Given the description of an element on the screen output the (x, y) to click on. 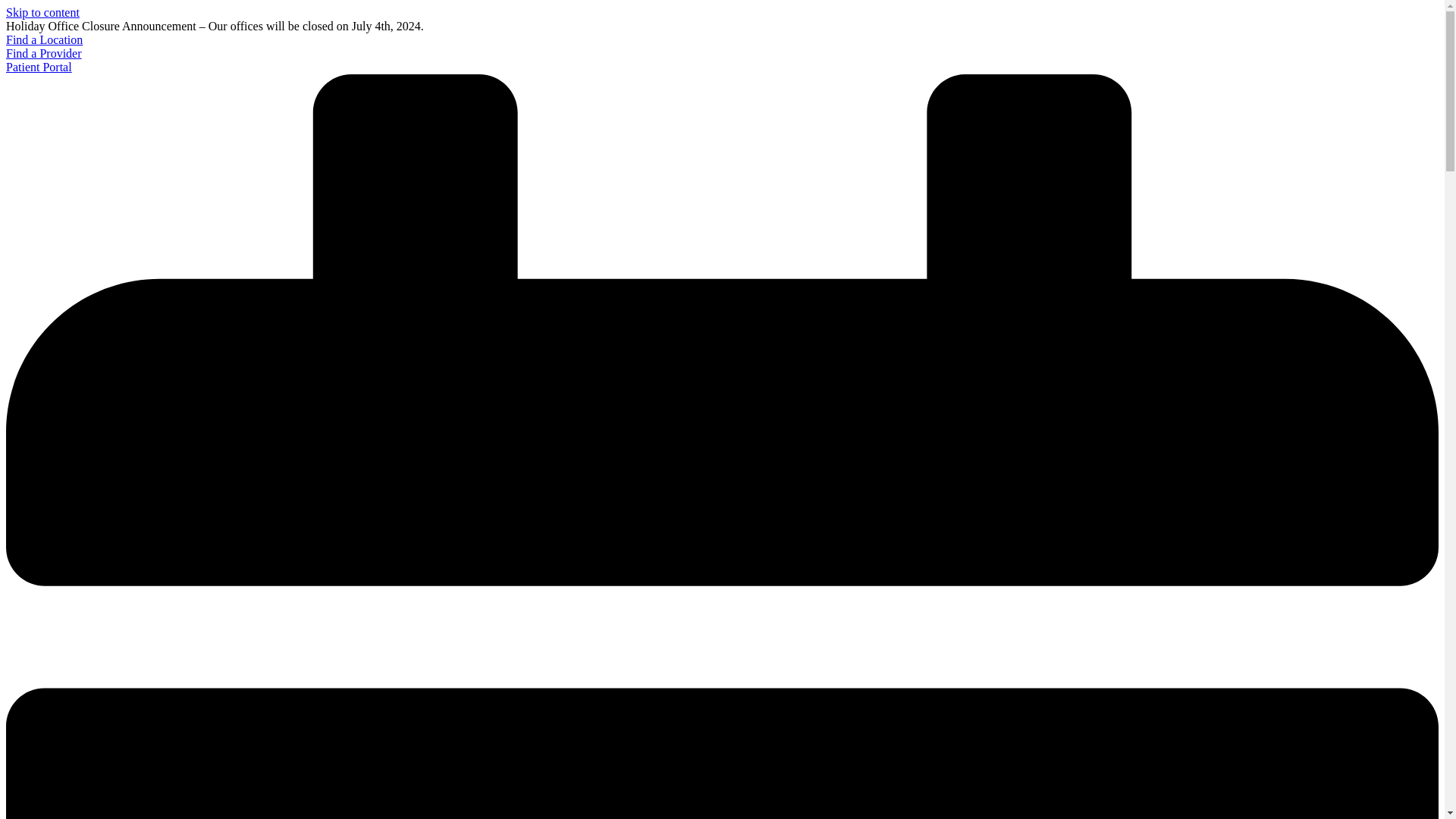
Find a Provider (43, 52)
Skip to content (42, 11)
Patient Portal (38, 66)
Find a Location (43, 39)
